Given the description of an element on the screen output the (x, y) to click on. 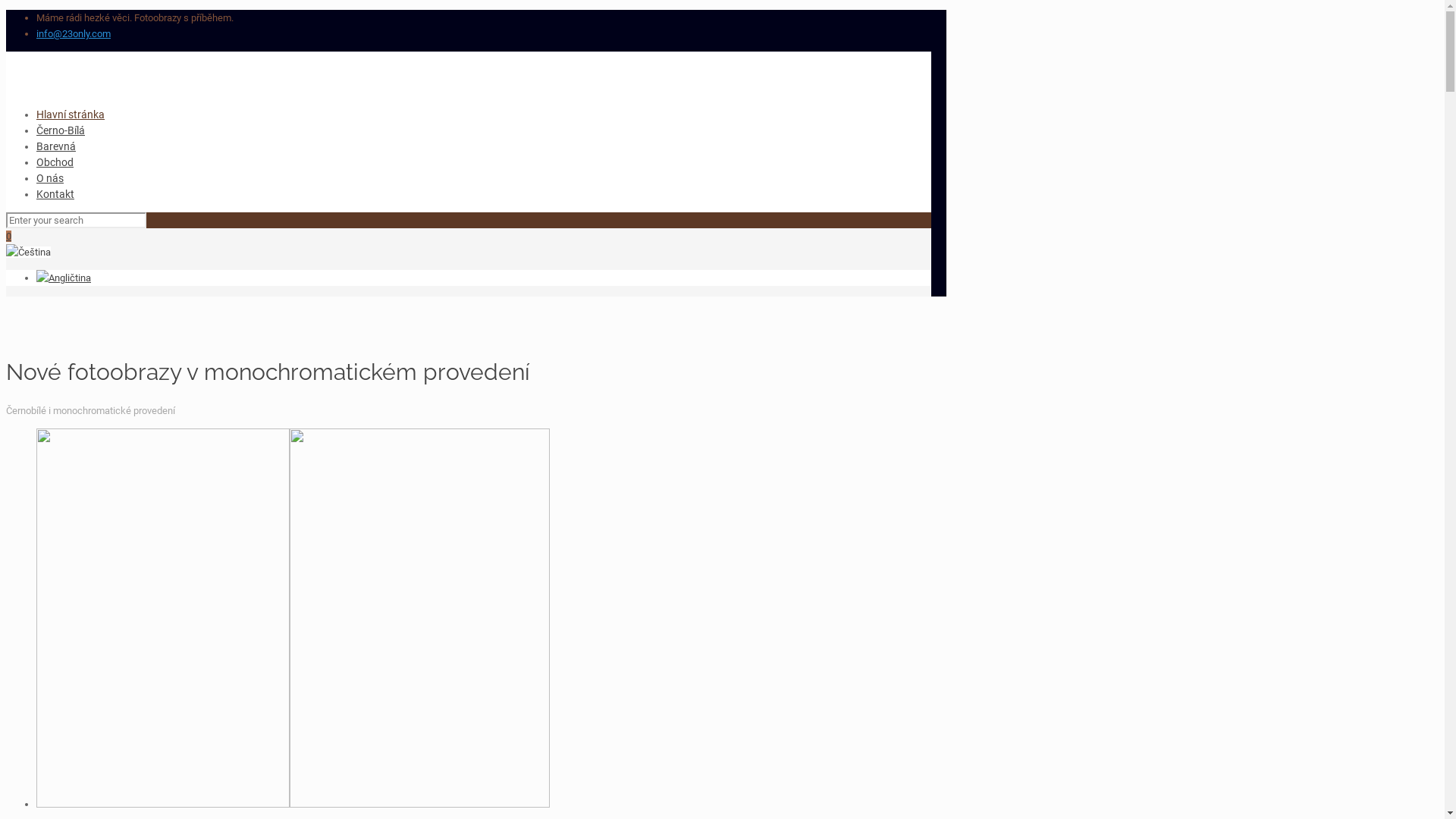
Obchod Element type: text (54, 161)
0 Element type: text (8, 235)
info@23only.com Element type: text (73, 33)
Kontakt Element type: text (55, 193)
